Given the description of an element on the screen output the (x, y) to click on. 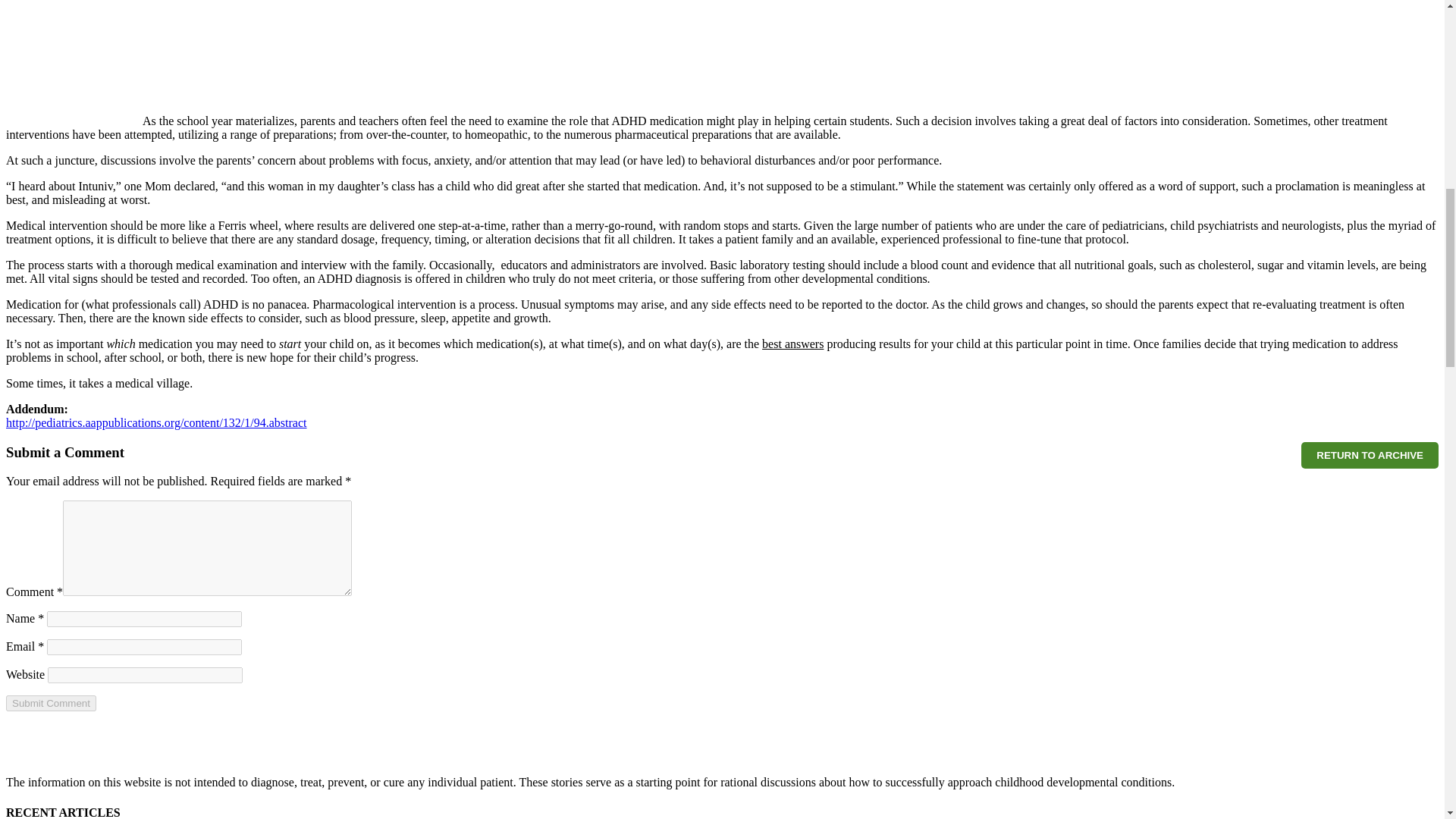
Submit Comment (50, 703)
Submit Comment (50, 703)
